Given the description of an element on the screen output the (x, y) to click on. 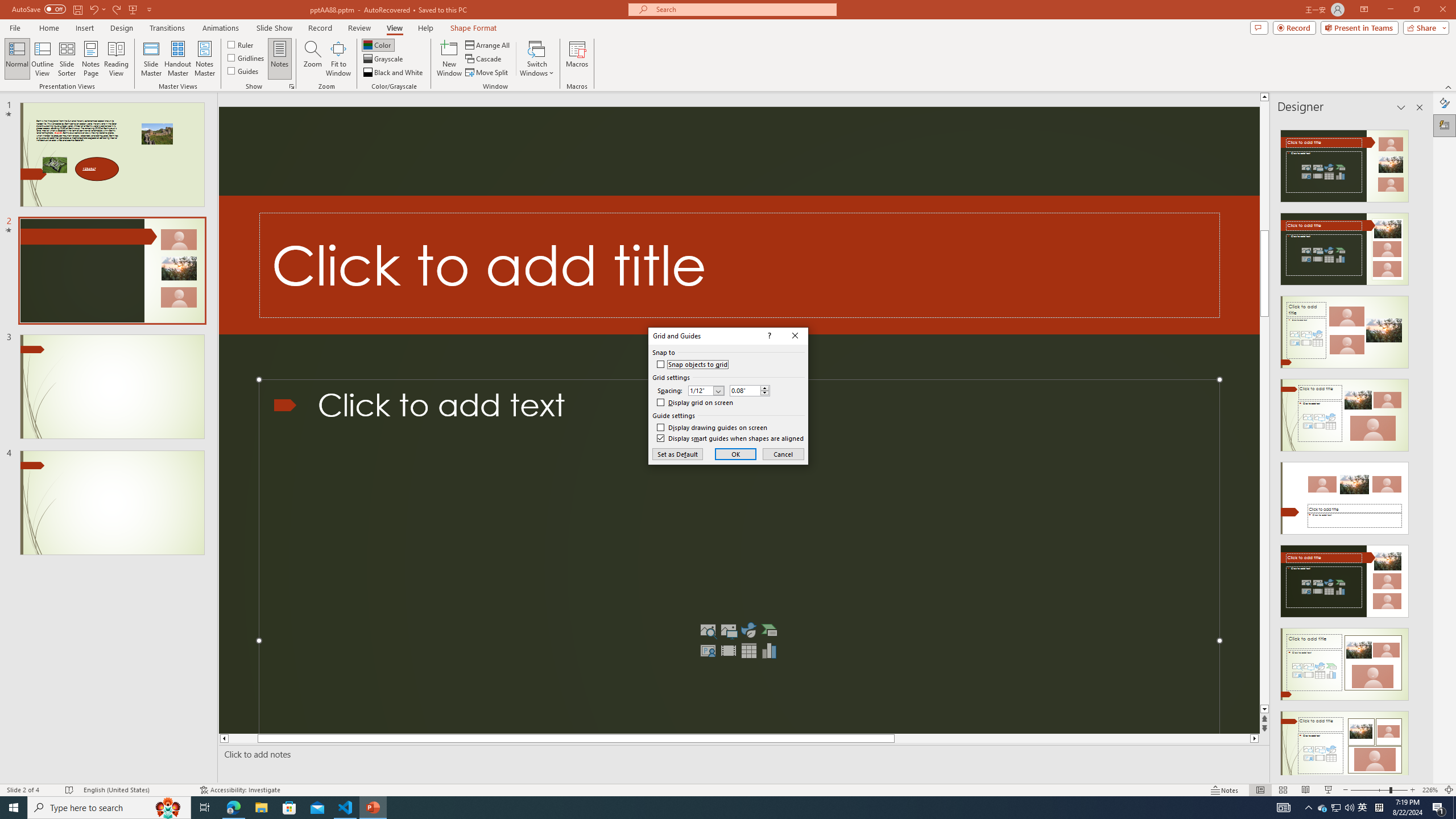
Snap objects to grid (692, 364)
Outline View (42, 58)
Grid Settings... (291, 85)
Stock Images (707, 629)
Switch Windows (537, 58)
